Given the description of an element on the screen output the (x, y) to click on. 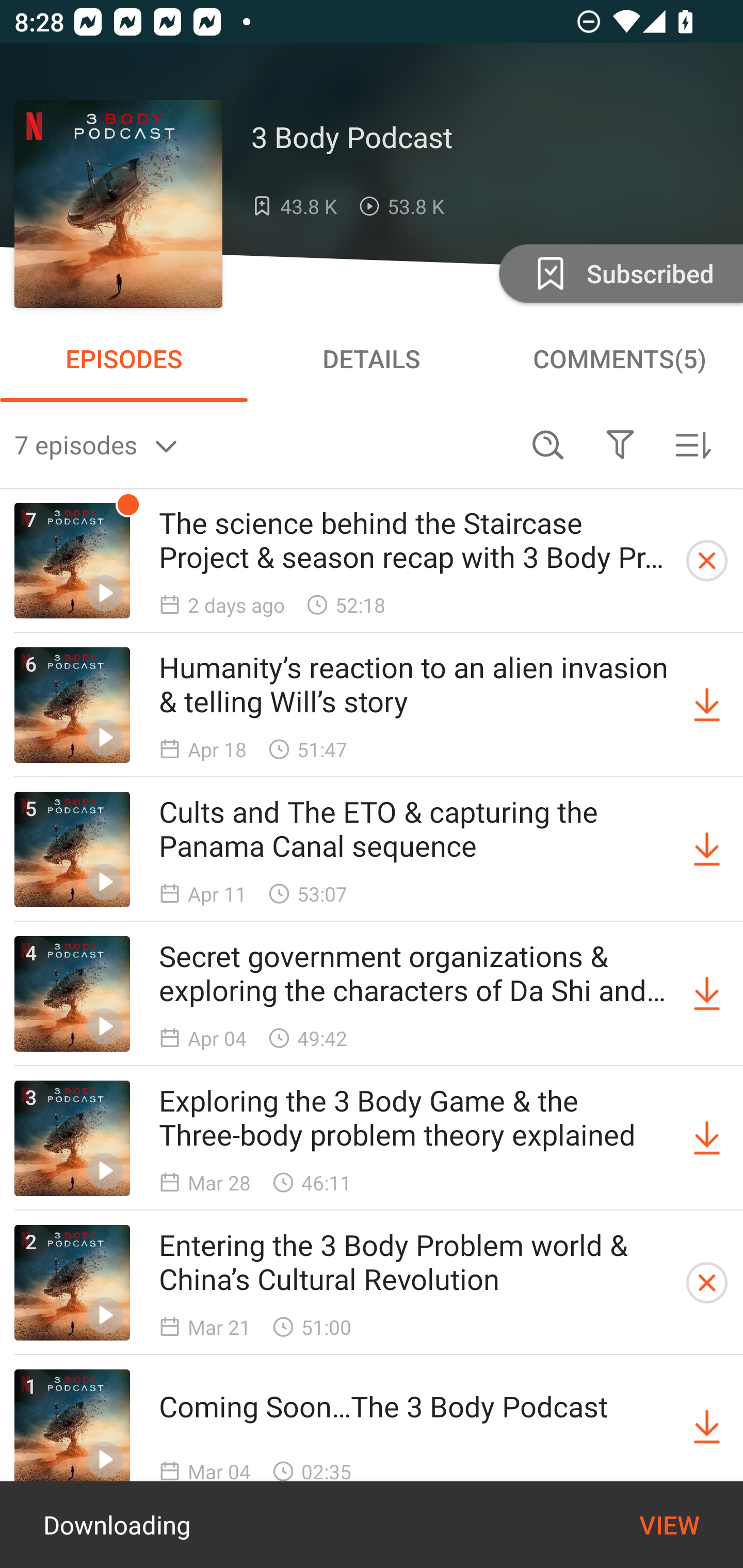
Unsubscribe Subscribed (619, 272)
EPISODES (123, 358)
DETAILS (371, 358)
COMMENTS(5) (619, 358)
7 episodes  (262, 445)
 Search (547, 445)
 (619, 445)
 Sorted by newest first (692, 445)
Cancel Downloading (706, 560)
Download (706, 705)
Download (706, 849)
Download (706, 994)
Download (706, 1138)
Cancel Downloading (706, 1282)
Download (706, 1426)
Downloading VIEW (371, 1524)
VIEW (669, 1524)
